Given the description of an element on the screen output the (x, y) to click on. 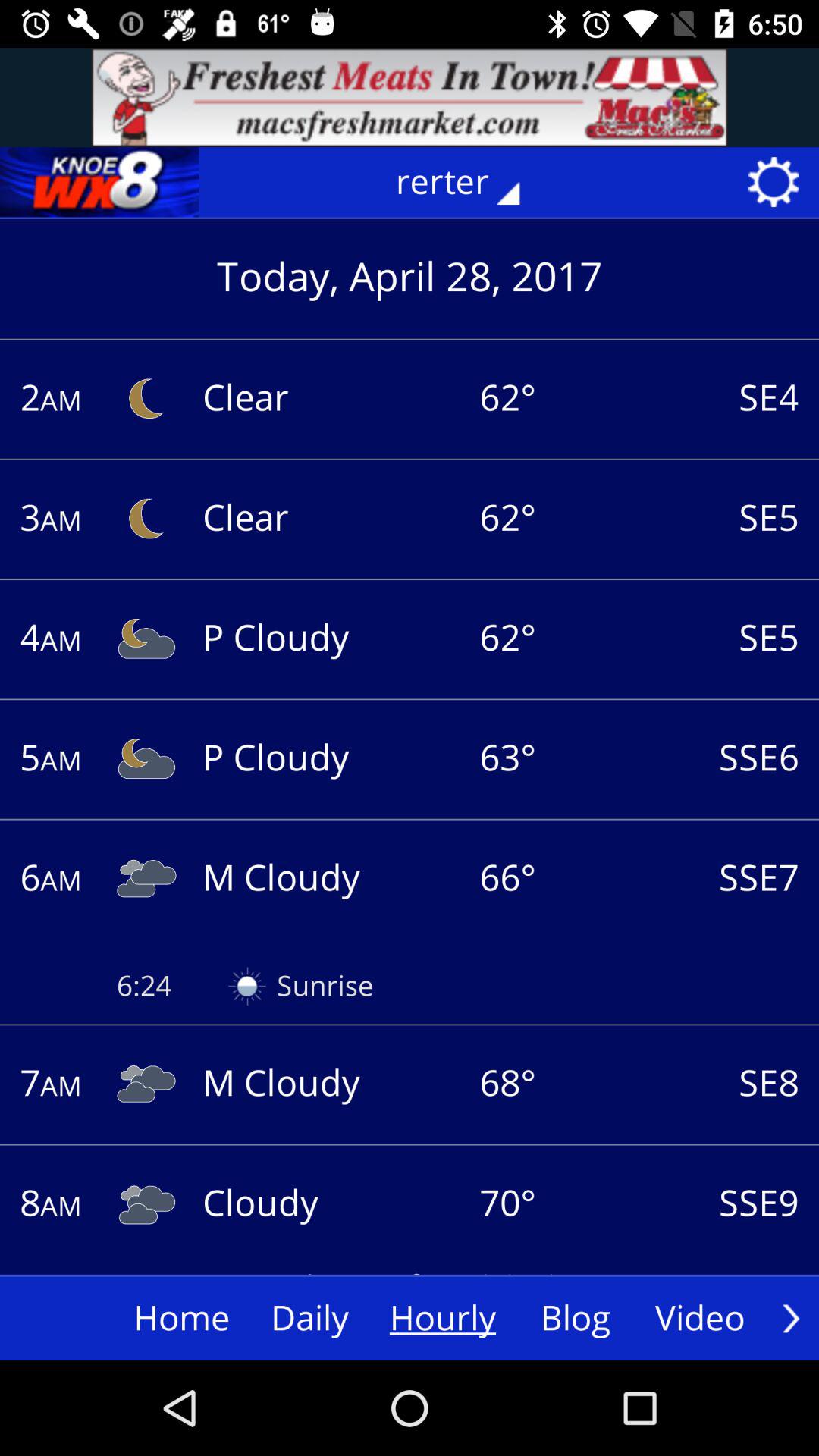
select the image on left to the text sunrise on the web page (246, 986)
click on rerter (468, 181)
